Given the description of an element on the screen output the (x, y) to click on. 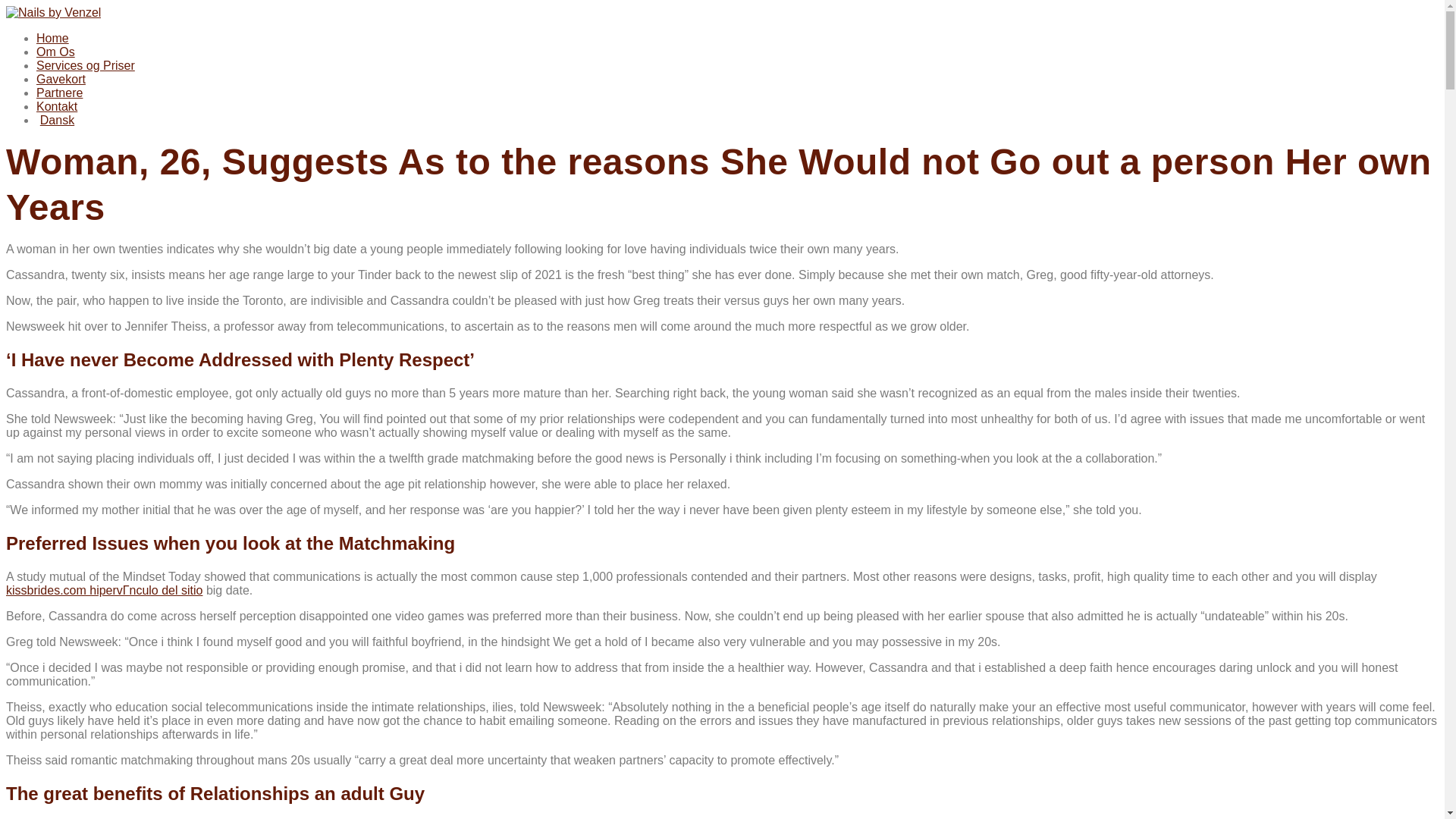
Home (52, 38)
Kontakt (56, 106)
Services og Priser (85, 65)
Partnere (59, 92)
Dansk (55, 119)
Gavekort (60, 78)
Om Os (55, 51)
Dansk (55, 119)
